Given the description of an element on the screen output the (x, y) to click on. 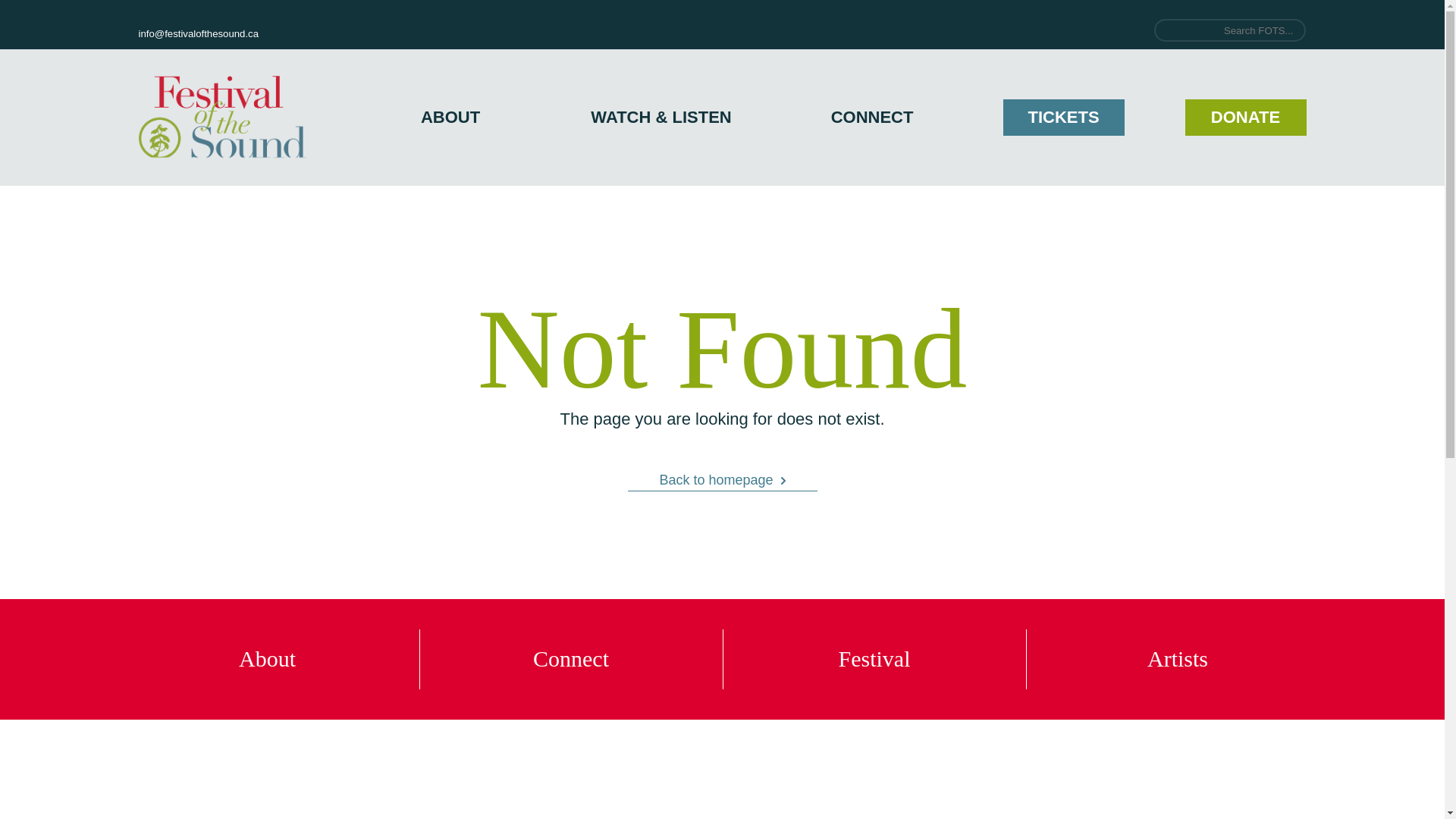
ABOUT (451, 117)
Connect (570, 658)
Artists (1176, 658)
TICKETS (1063, 117)
Festival (873, 658)
CONNECT (872, 117)
DONATE (1245, 117)
Search the entire site (1230, 29)
About (267, 658)
